Given the description of an element on the screen output the (x, y) to click on. 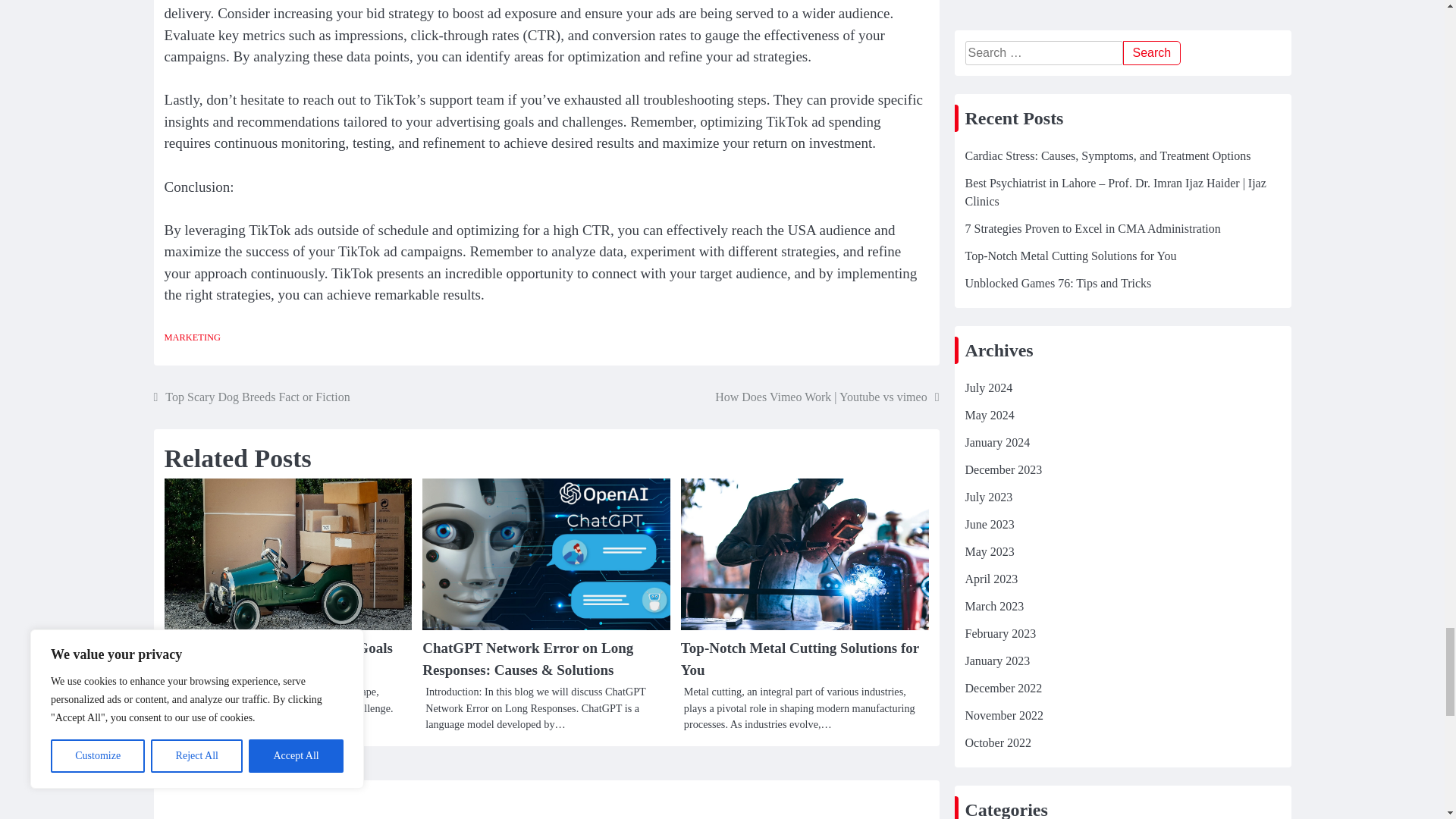
Top Scary Dog Breeds Fact or Fiction (250, 397)
Top-Notch Metal Cutting Solutions for You (799, 658)
MARKETING (191, 337)
Best Small Business Packaging Goals and Strategies (277, 658)
